Given the description of an element on the screen output the (x, y) to click on. 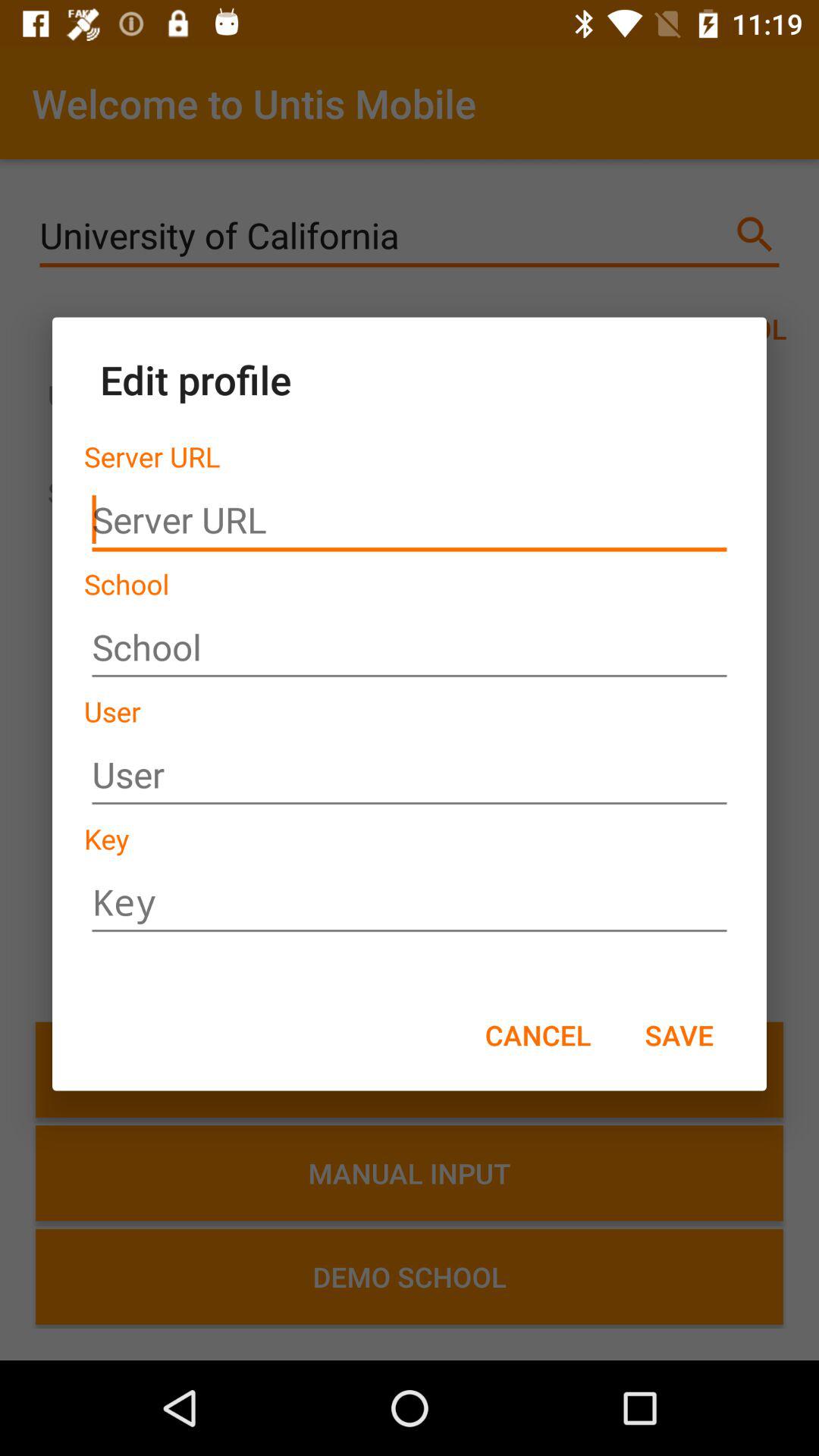
jump to save item (678, 1034)
